Given the description of an element on the screen output the (x, y) to click on. 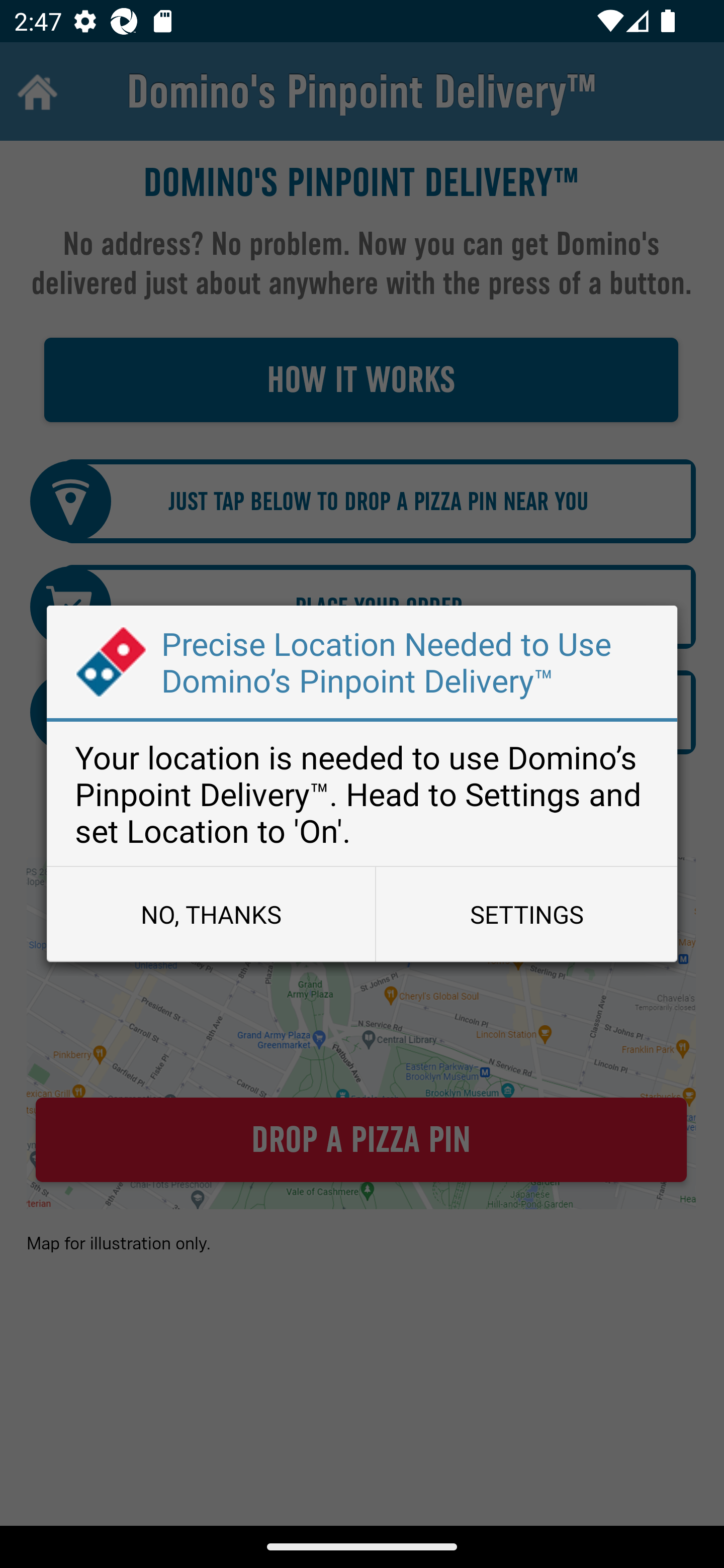
NO, THANKS (211, 914)
SETTINGS (525, 914)
